Given the description of an element on the screen output the (x, y) to click on. 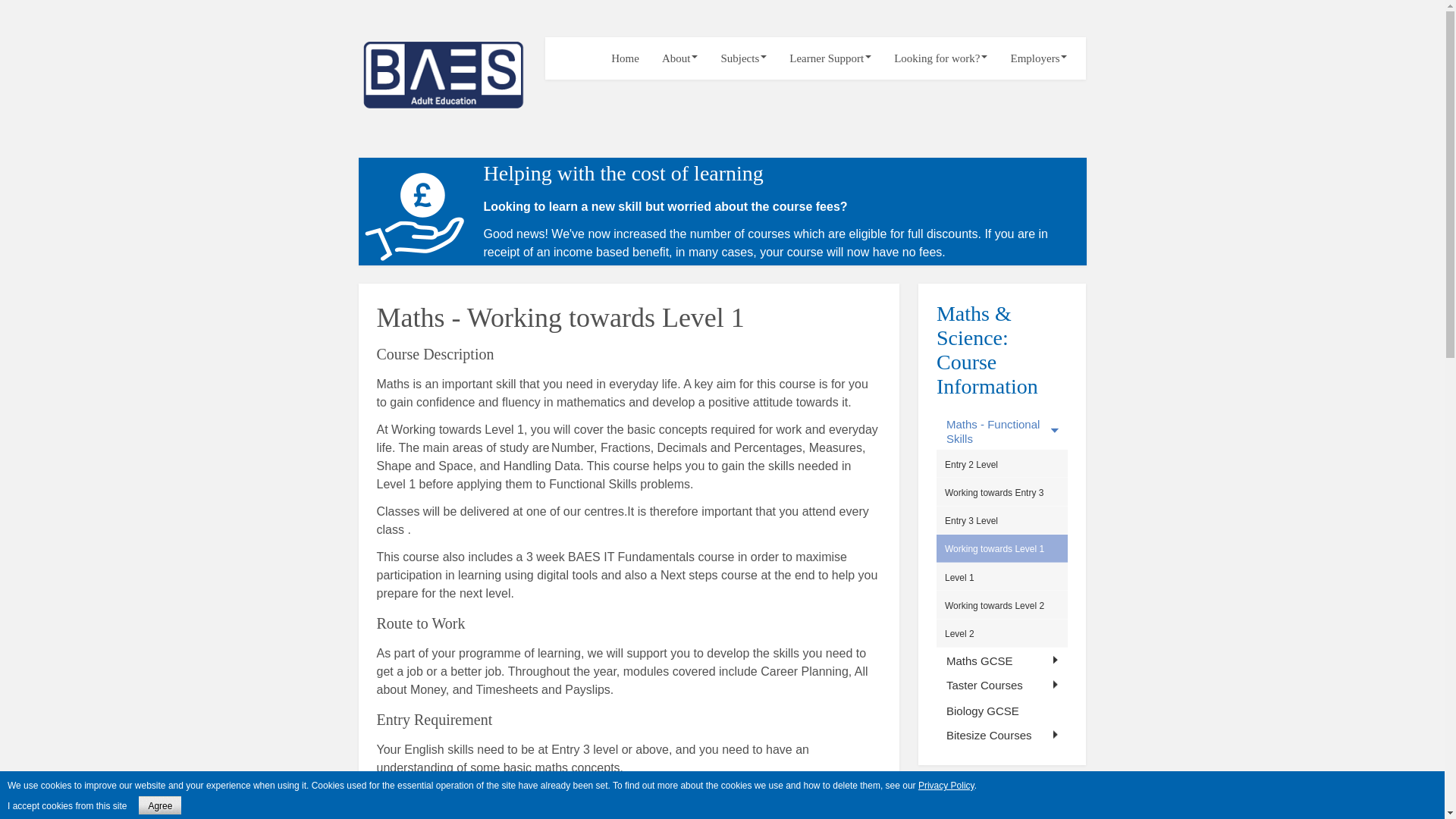
View our privacy policy page (946, 785)
About (680, 57)
Home (624, 57)
Subjects (743, 57)
